Given the description of an element on the screen output the (x, y) to click on. 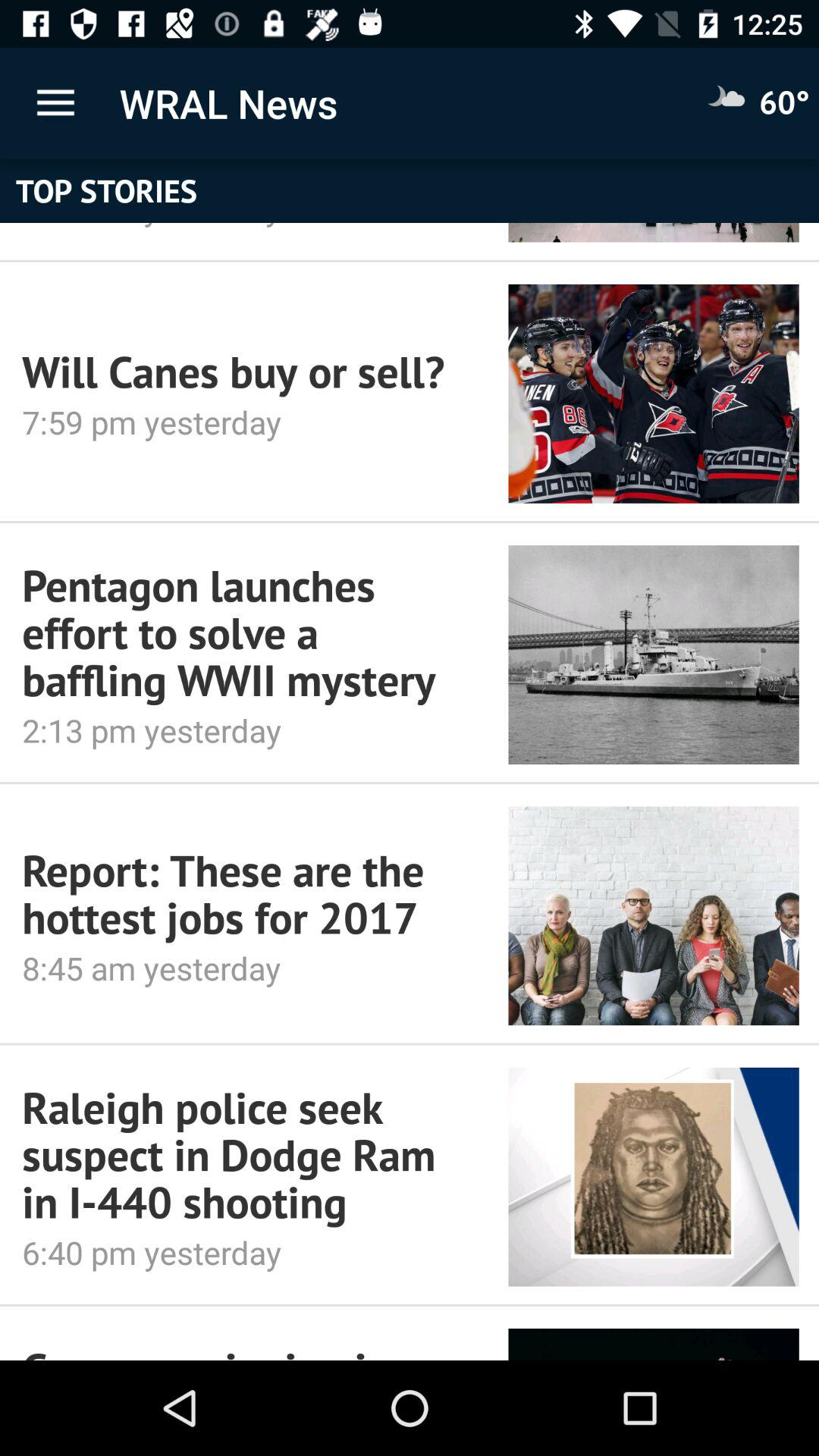
turn on 7 59 pm (233, 421)
